Given the description of an element on the screen output the (x, y) to click on. 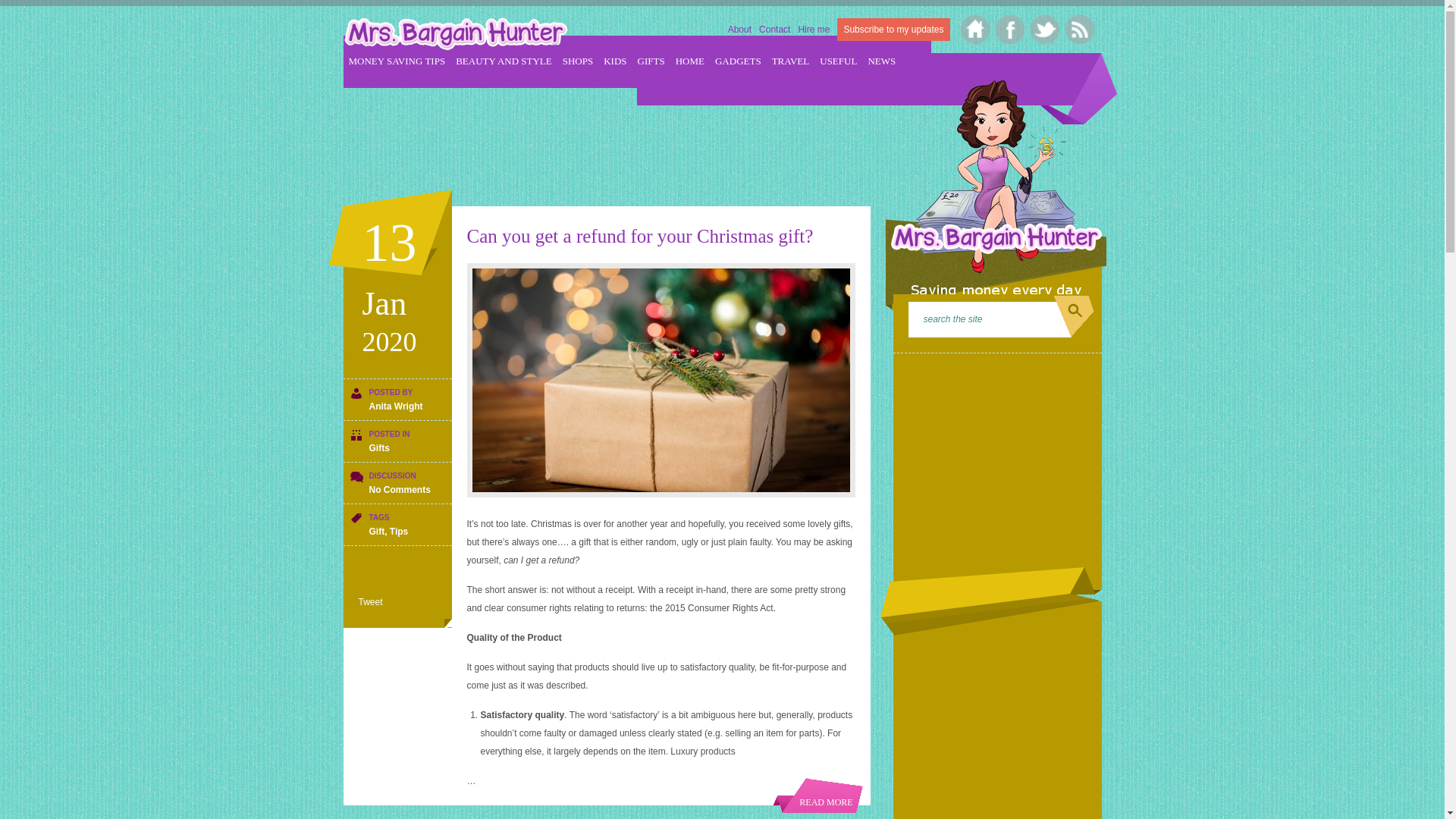
Anita Wright (395, 406)
Gift (376, 531)
GIFTS (651, 61)
MONEY SAVING TIPS (396, 61)
KIDS (614, 61)
Tweet (369, 602)
Read the full post (817, 795)
Twitter (1041, 27)
Gifts (378, 448)
Facebook (1007, 27)
USEFUL (838, 61)
NEWS (881, 61)
Read the full post (661, 379)
Advertisement (618, 137)
